Given the description of an element on the screen output the (x, y) to click on. 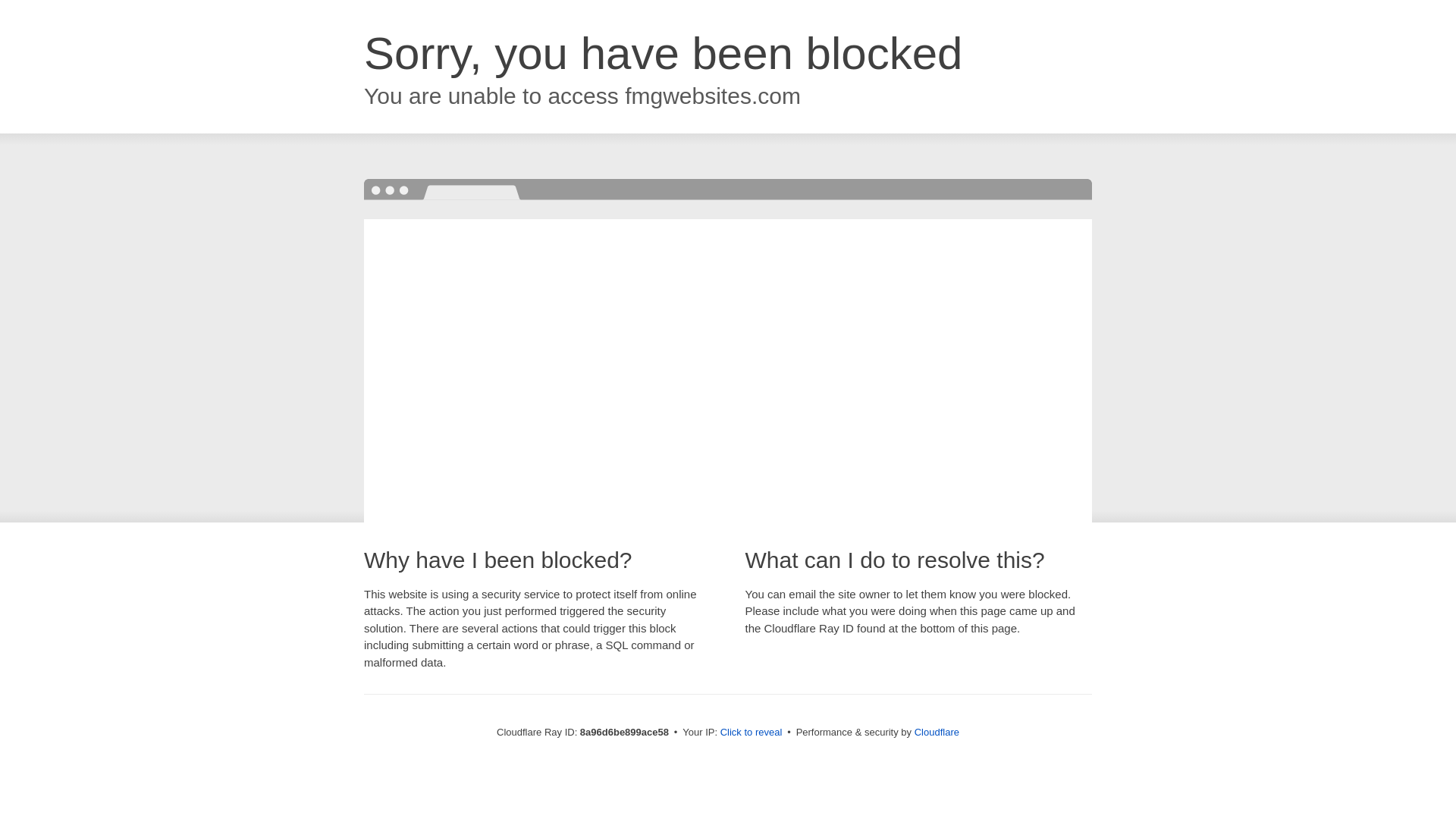
Click to reveal (751, 732)
Cloudflare (936, 731)
